Given the description of an element on the screen output the (x, y) to click on. 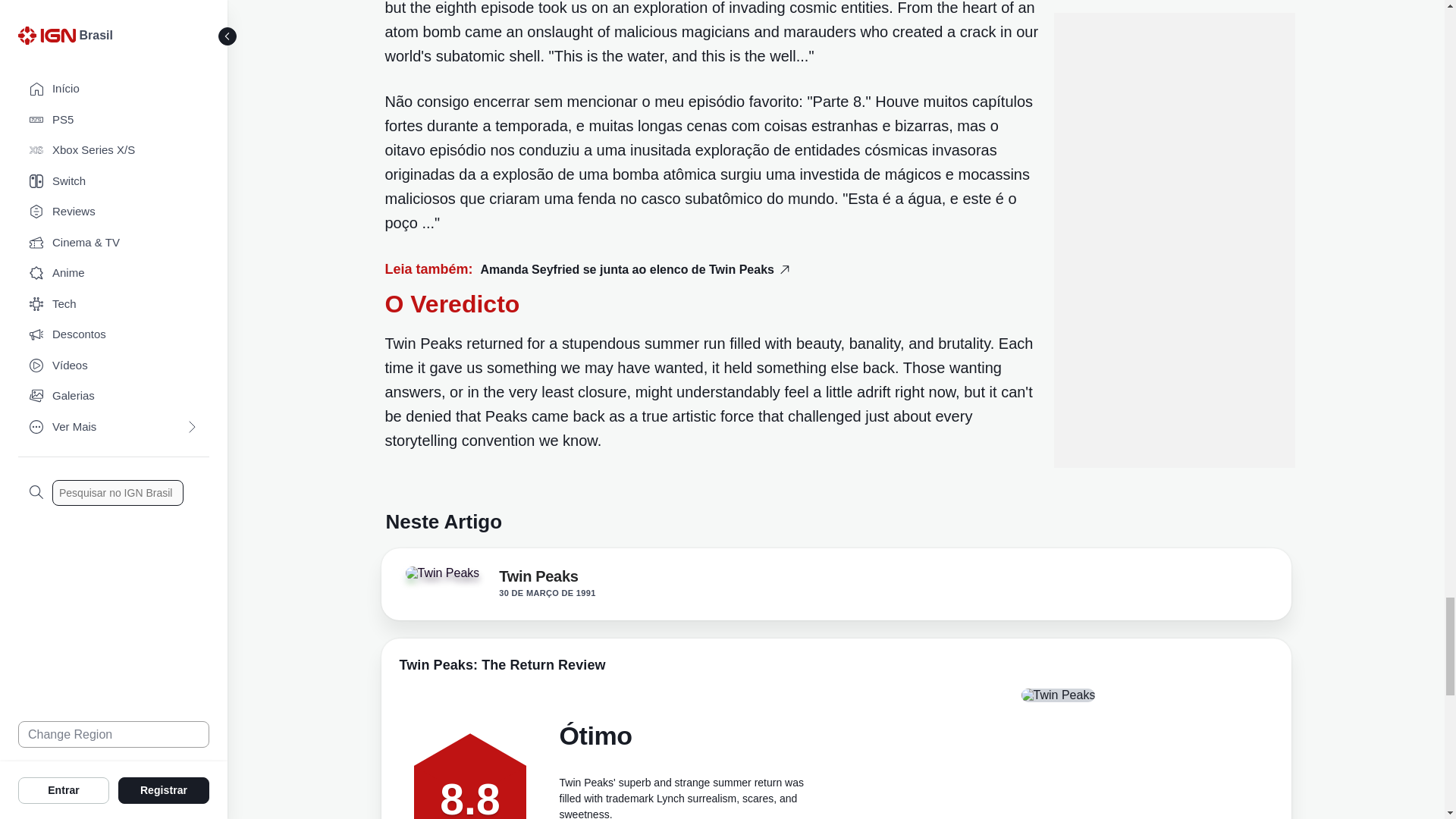
Twin Peaks (441, 572)
Twin Peaks (538, 579)
Twin Peaks (448, 577)
